Given the description of an element on the screen output the (x, y) to click on. 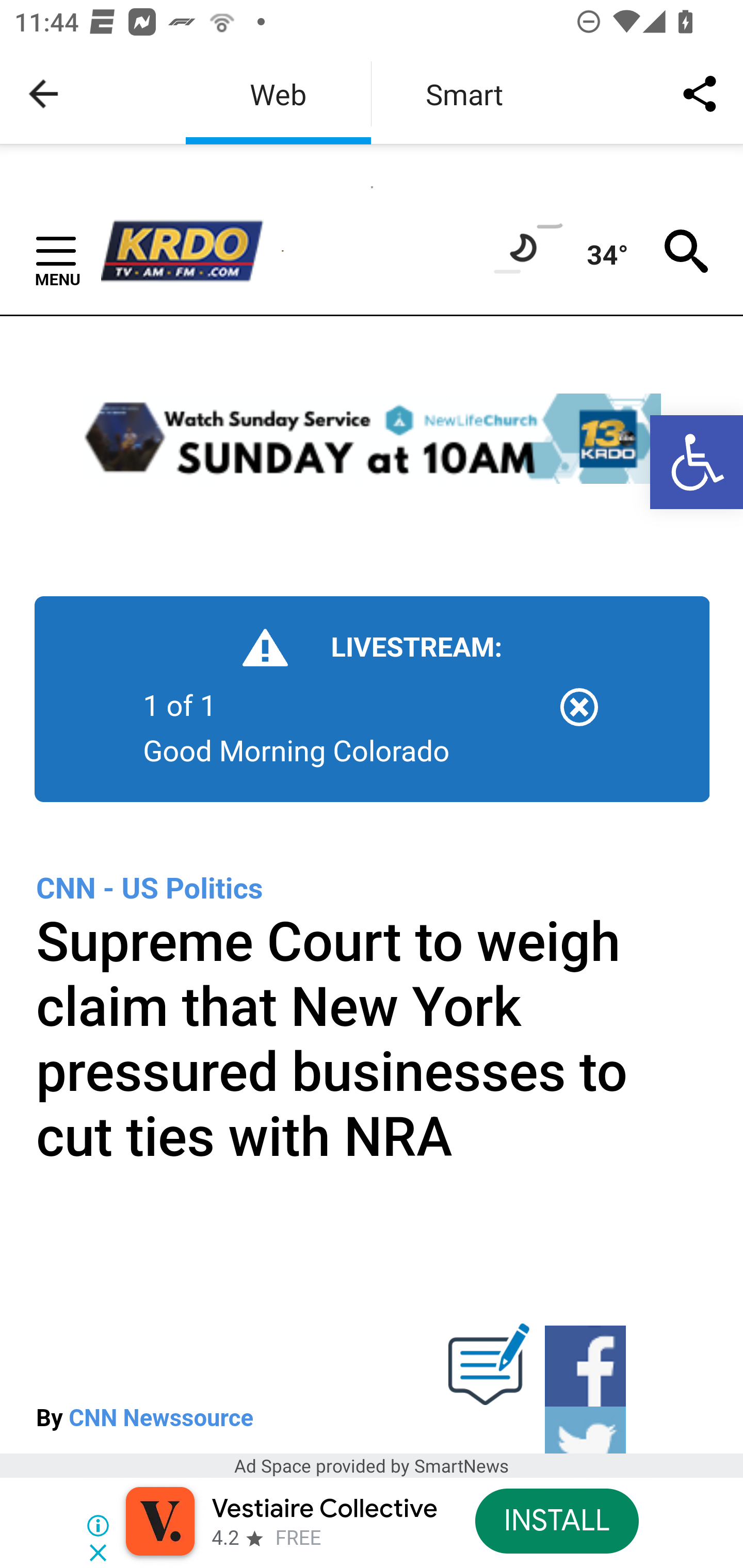
Web (277, 93)
Smart (464, 93)
KRDO  KRDO   (191, 250)
# search (686, 250)
CNN - US Politics (149, 888)
comment_icon (489, 1372)
Share on Facebook (584, 1366)
CNN Newssource (161, 1418)
Share on Twitter (584, 1430)
INSTALL (556, 1520)
Vestiaire Collective (324, 1508)
